Given the description of an element on the screen output the (x, y) to click on. 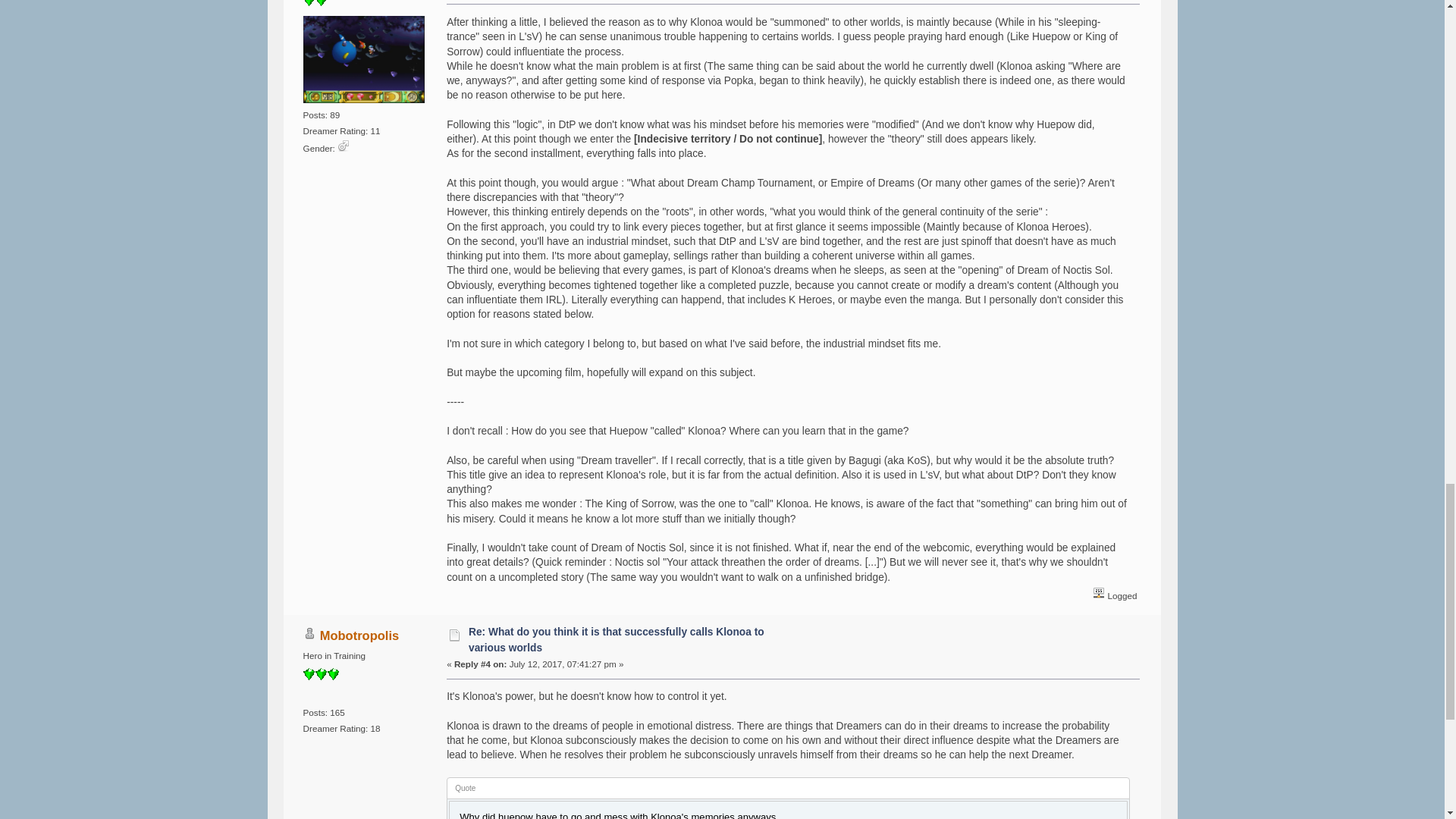
View the profile of Mobotropolis (359, 635)
